Given the description of an element on the screen output the (x, y) to click on. 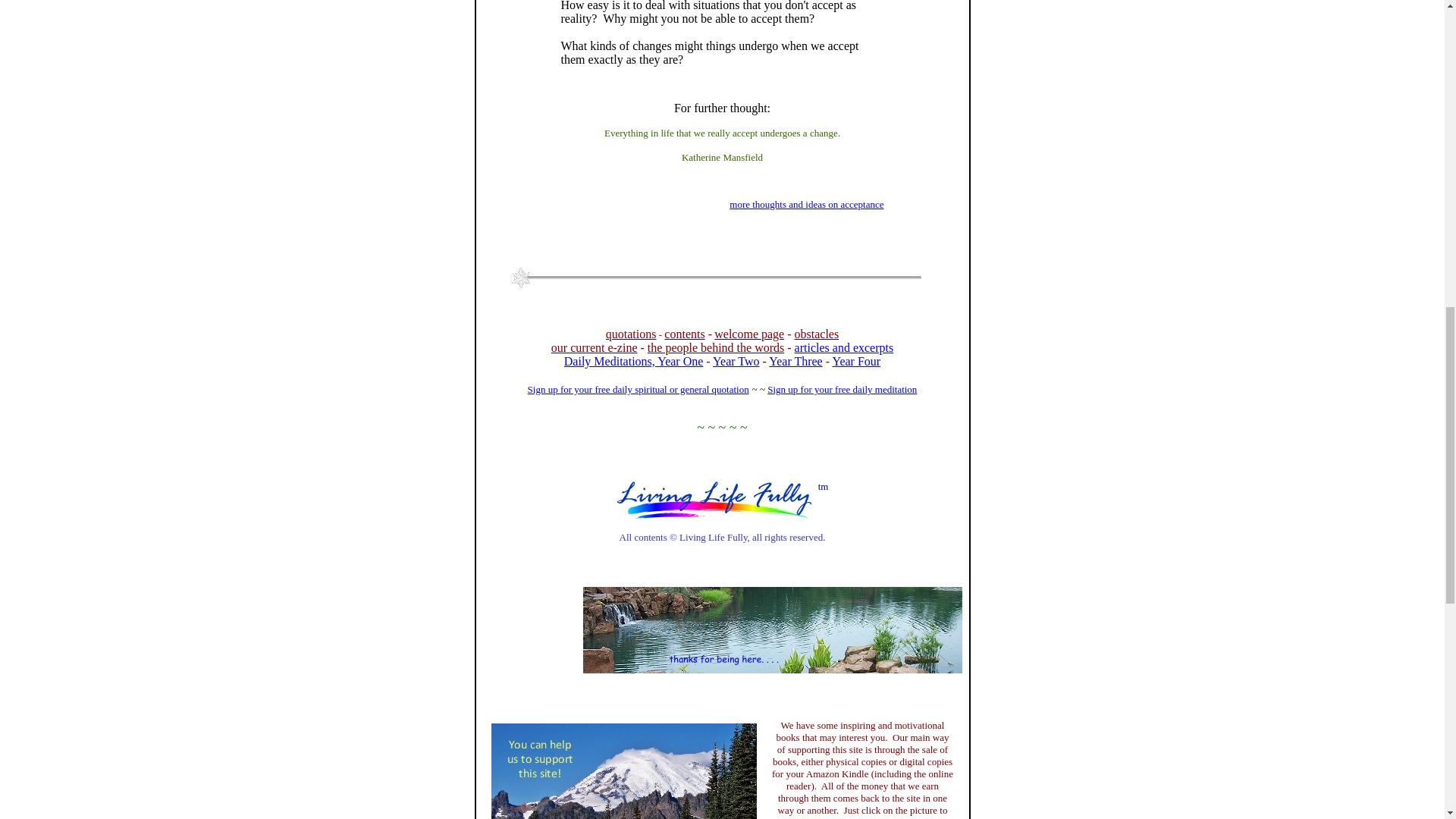
Year Four (855, 360)
contents (683, 333)
the people behind the words (715, 347)
welcome page (749, 333)
more thoughts and ideas on acceptance (806, 204)
Sign up for your free daily spiritual or general quotation (638, 395)
quotations (630, 333)
articles and excerpts (843, 347)
Daily Meditations, Year One (633, 360)
Year Three (795, 360)
Sign up for your free daily meditation (842, 389)
Year Two (735, 360)
obstacles (817, 333)
our current e-zine (594, 347)
